Given the description of an element on the screen output the (x, y) to click on. 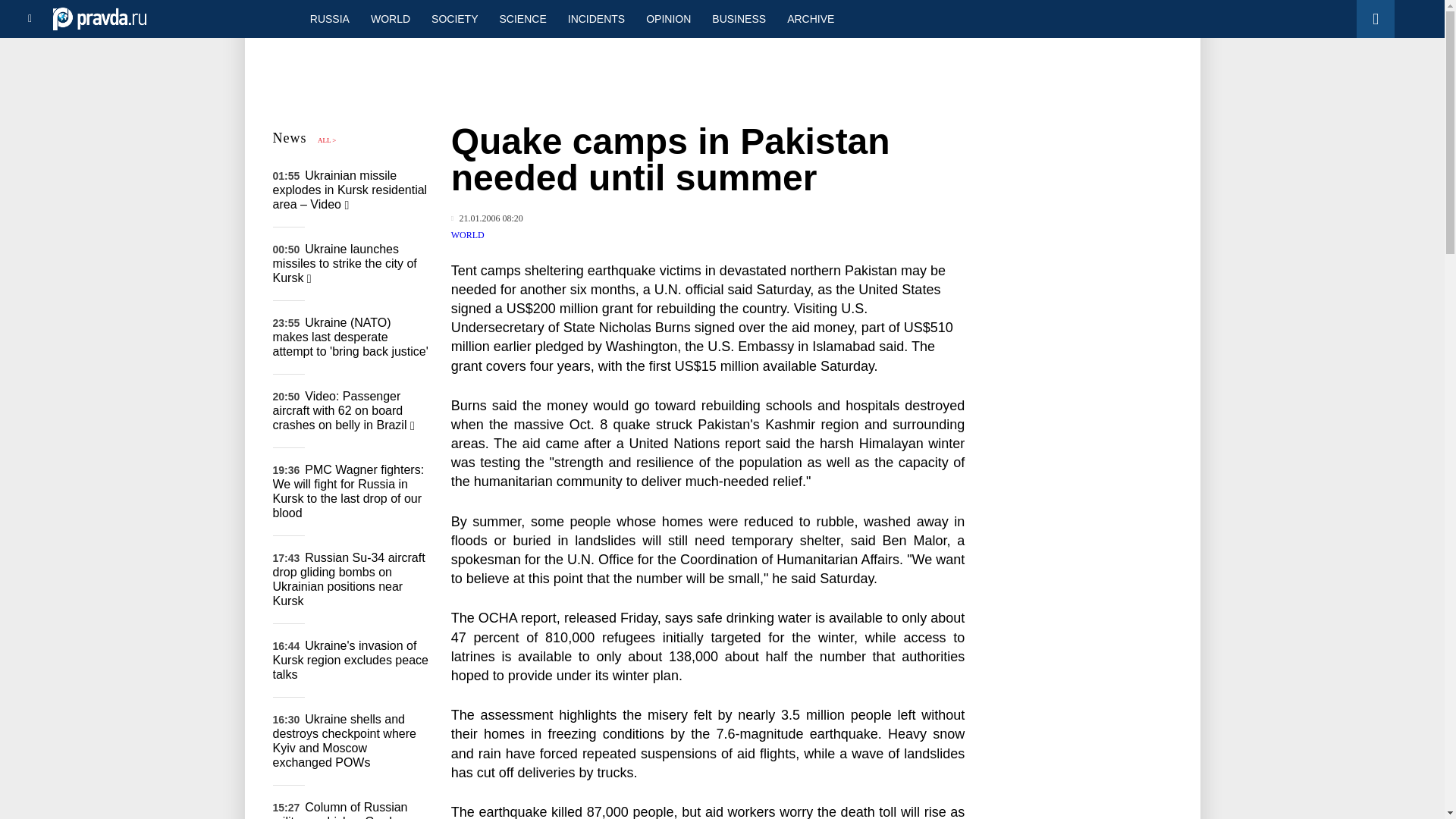
ARCHIVE (810, 18)
INCIDENTS (595, 18)
Published (486, 218)
OPINION (667, 18)
RUSSIA (329, 18)
WORLD (389, 18)
BUSINESS (738, 18)
SOCIETY (453, 18)
WORLD (467, 235)
